Given the description of an element on the screen output the (x, y) to click on. 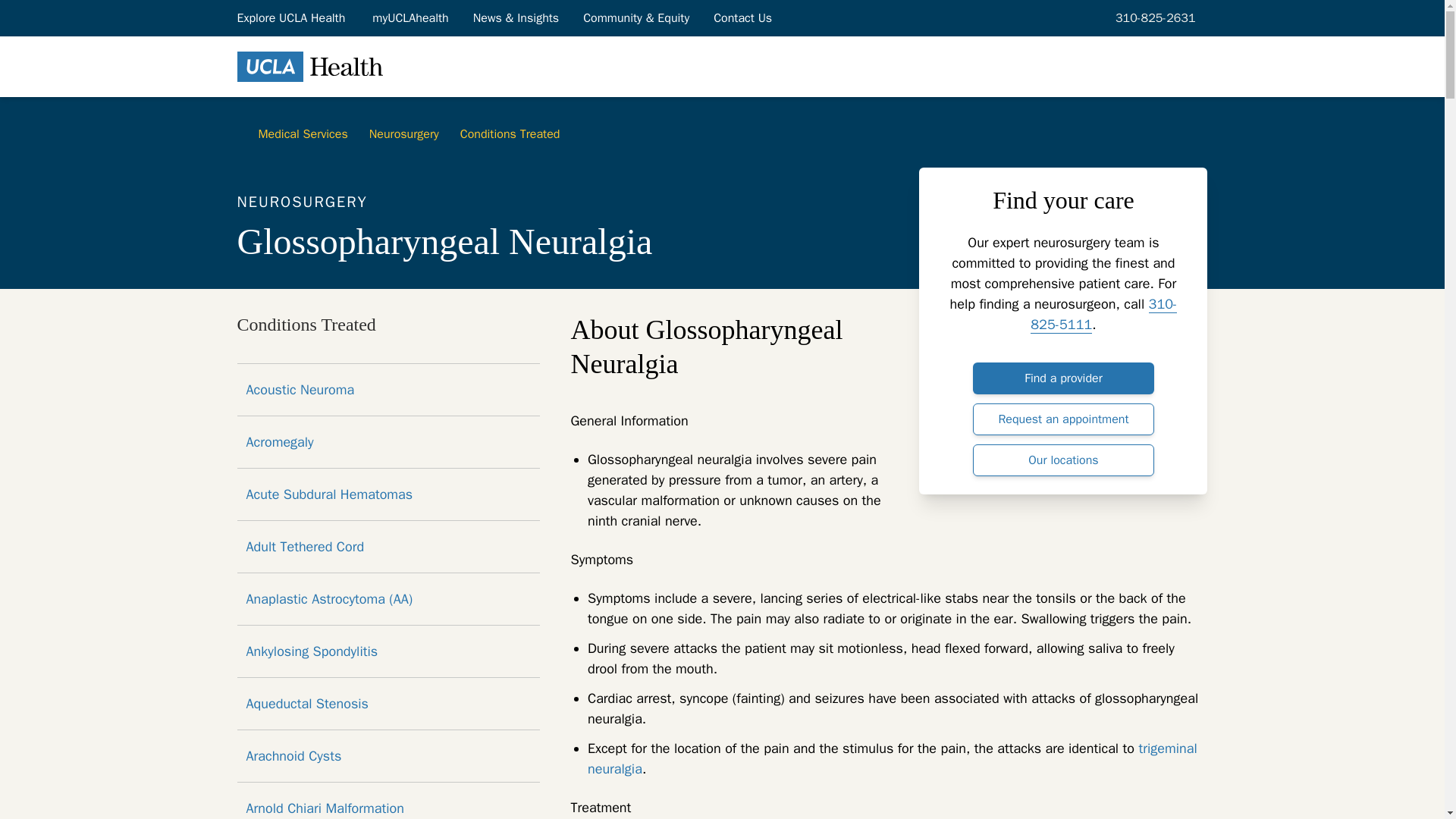
Contact Us (742, 17)
310-825-2631 (1152, 17)
Explore UCLA Health (291, 17)
myUCLAhealth Login. (409, 17)
myUCLAhealth (409, 17)
trigeminal neuralgia (892, 758)
